Given the description of an element on the screen output the (x, y) to click on. 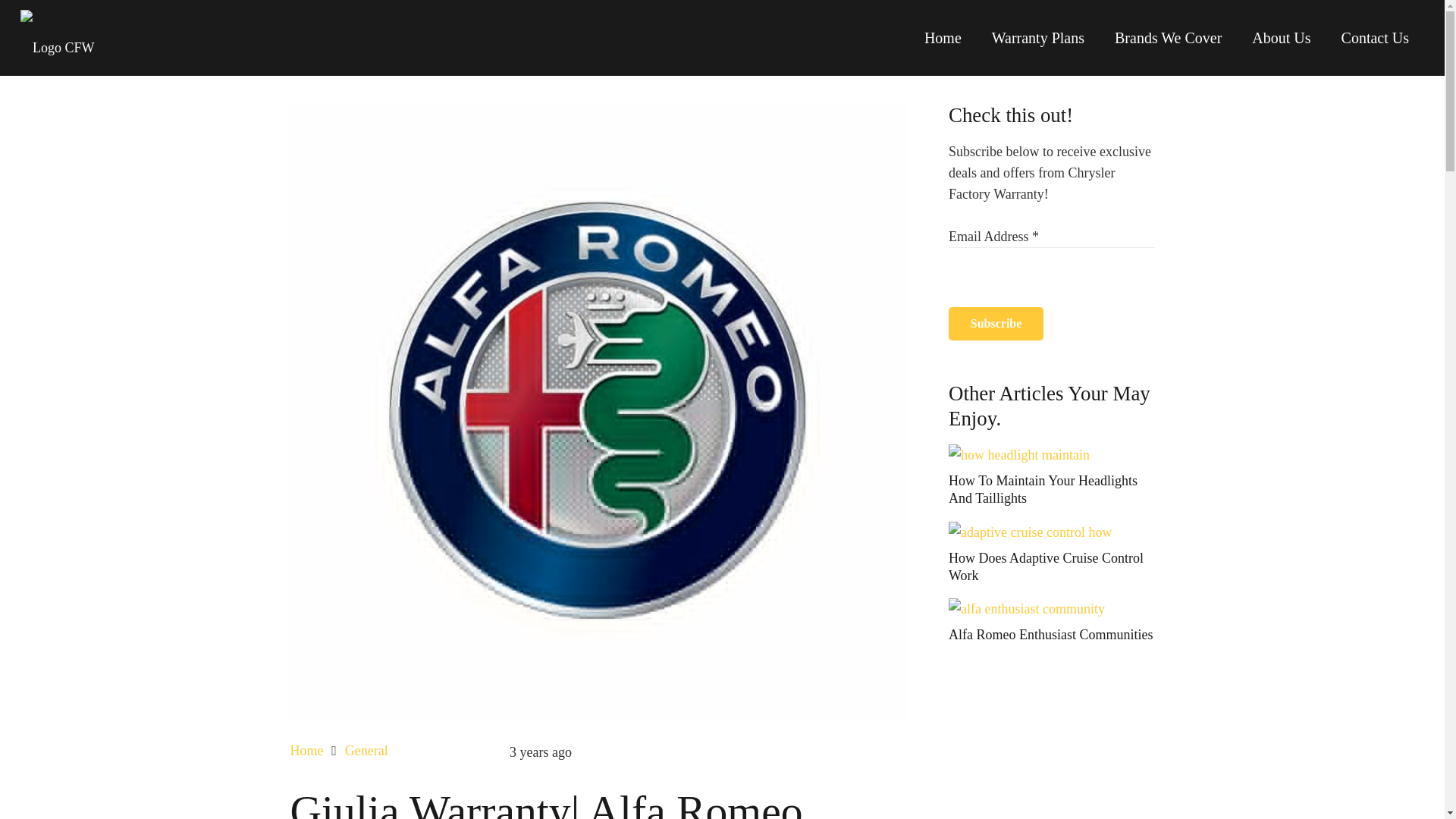
Brands We Cover (1167, 38)
Contact Us (1374, 38)
General (366, 750)
Home (306, 750)
About Us (1280, 38)
Warranty Plans (1037, 38)
Home (942, 38)
Subscribe (996, 324)
